Given the description of an element on the screen output the (x, y) to click on. 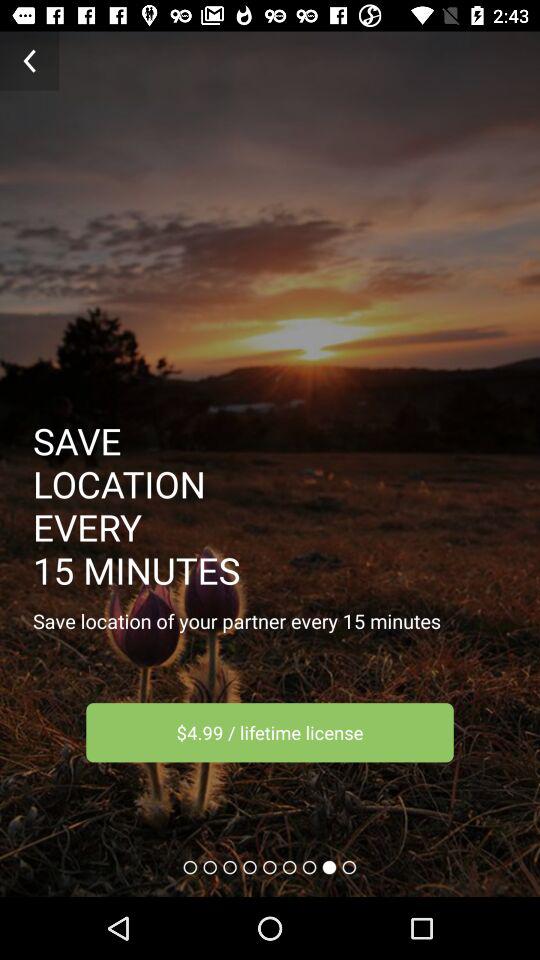
scroll to 4 99 lifetime (269, 732)
